Given the description of an element on the screen output the (x, y) to click on. 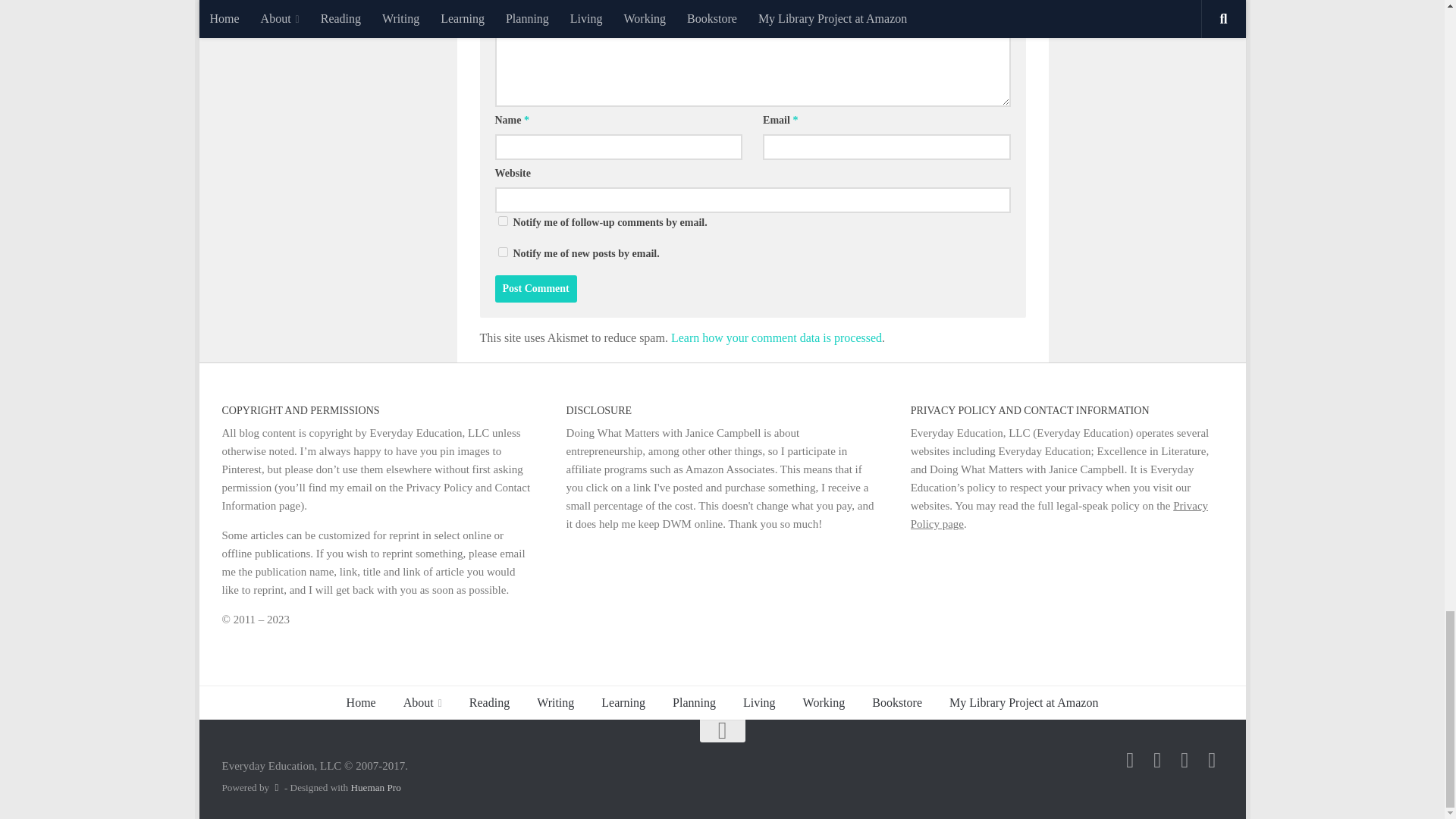
subscribe (501, 252)
subscribe (501, 221)
Post Comment (535, 288)
